Given the description of an element on the screen output the (x, y) to click on. 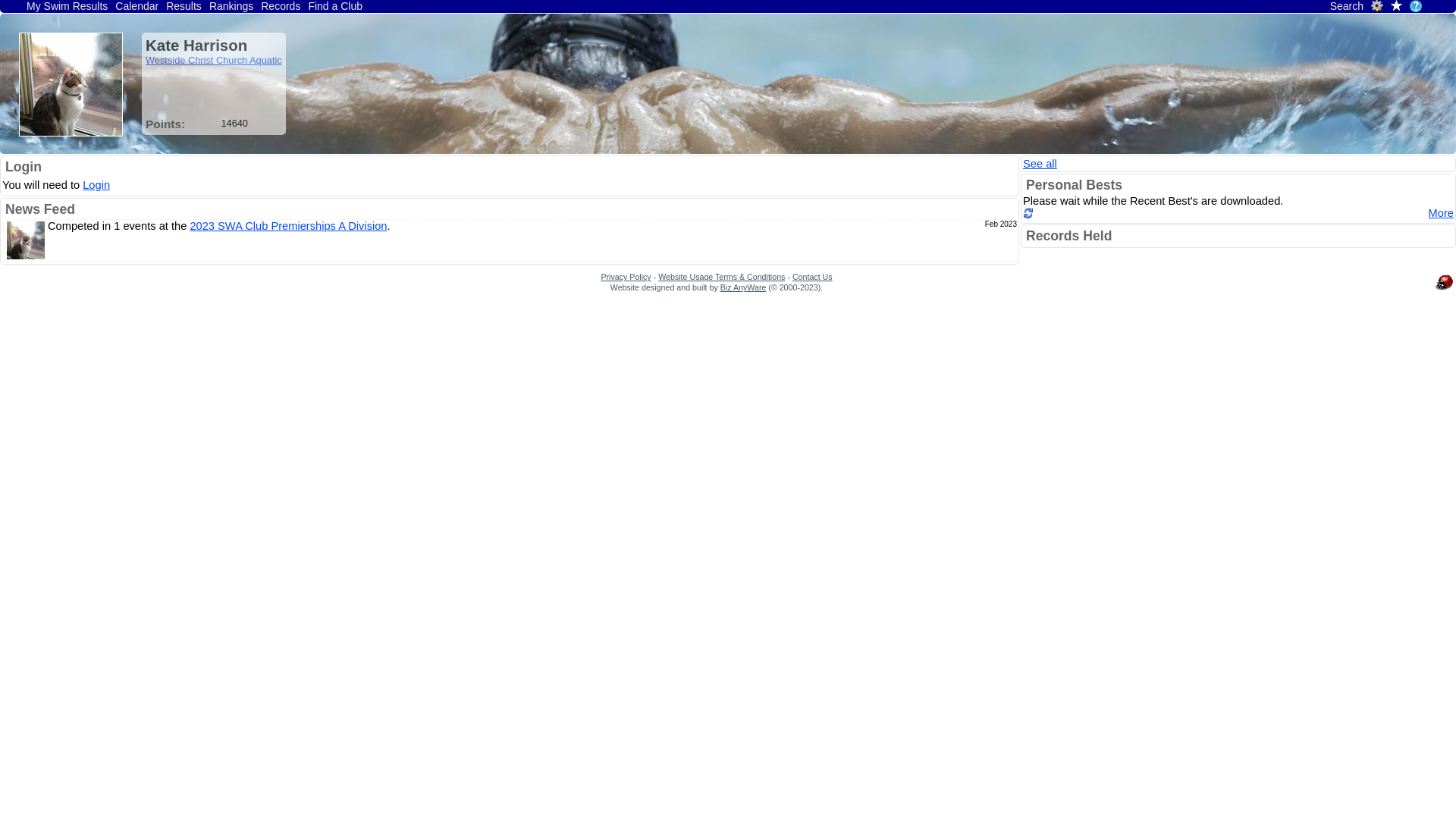
Personal Bests Element type: text (1074, 184)
Westside Christ Church Aquatic Element type: text (213, 59)
Rankings Element type: text (231, 6)
Refresh Element type: hover (1027, 215)
Login Element type: text (95, 184)
Find a Club Element type: text (334, 6)
Privacy Policy Element type: text (625, 276)
Help Element type: hover (1415, 6)
Login Element type: text (23, 166)
Records Held Element type: text (1068, 235)
14640 Element type: text (233, 122)
Search Element type: text (1346, 6)
Records Element type: text (280, 6)
Biz AnyWare Element type: text (743, 286)
Change your preferences Element type: hover (1377, 8)
Contact Us Element type: text (812, 276)
Results Element type: text (183, 6)
See all Element type: text (1039, 163)
More Element type: text (1440, 213)
Show favourite page Element type: hover (1396, 6)
Calendar Element type: text (136, 6)
My Swim Results Element type: text (66, 6)
2023 SWA Club Premierships A Division Element type: text (287, 225)
Website Usage Terms & Conditions Element type: text (721, 276)
